Given the description of an element on the screen output the (x, y) to click on. 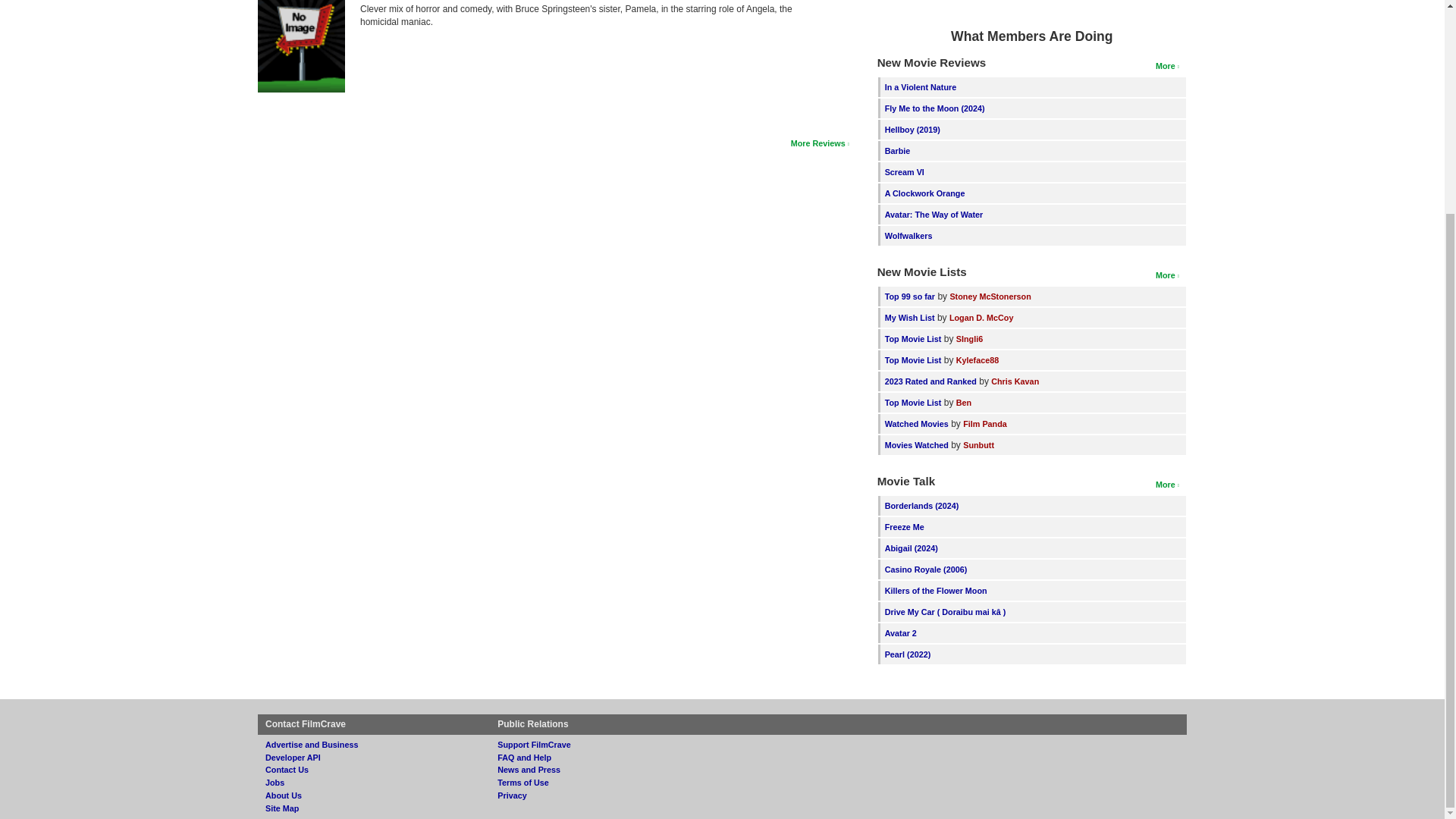
More Reviews (819, 143)
View Chris Kavan's profile (1015, 380)
View Logan D. McCoy's profile (981, 317)
More recent movie comments (1167, 483)
More new movie lists (1167, 275)
View Film Panda's profile (984, 423)
View Kyleface88's profile (977, 359)
View SIngli6's profile (969, 338)
3 out of 4 stars (822, 1)
Sleepaway Camp III: Teenage Wasteland (301, 46)
